Given the description of an element on the screen output the (x, y) to click on. 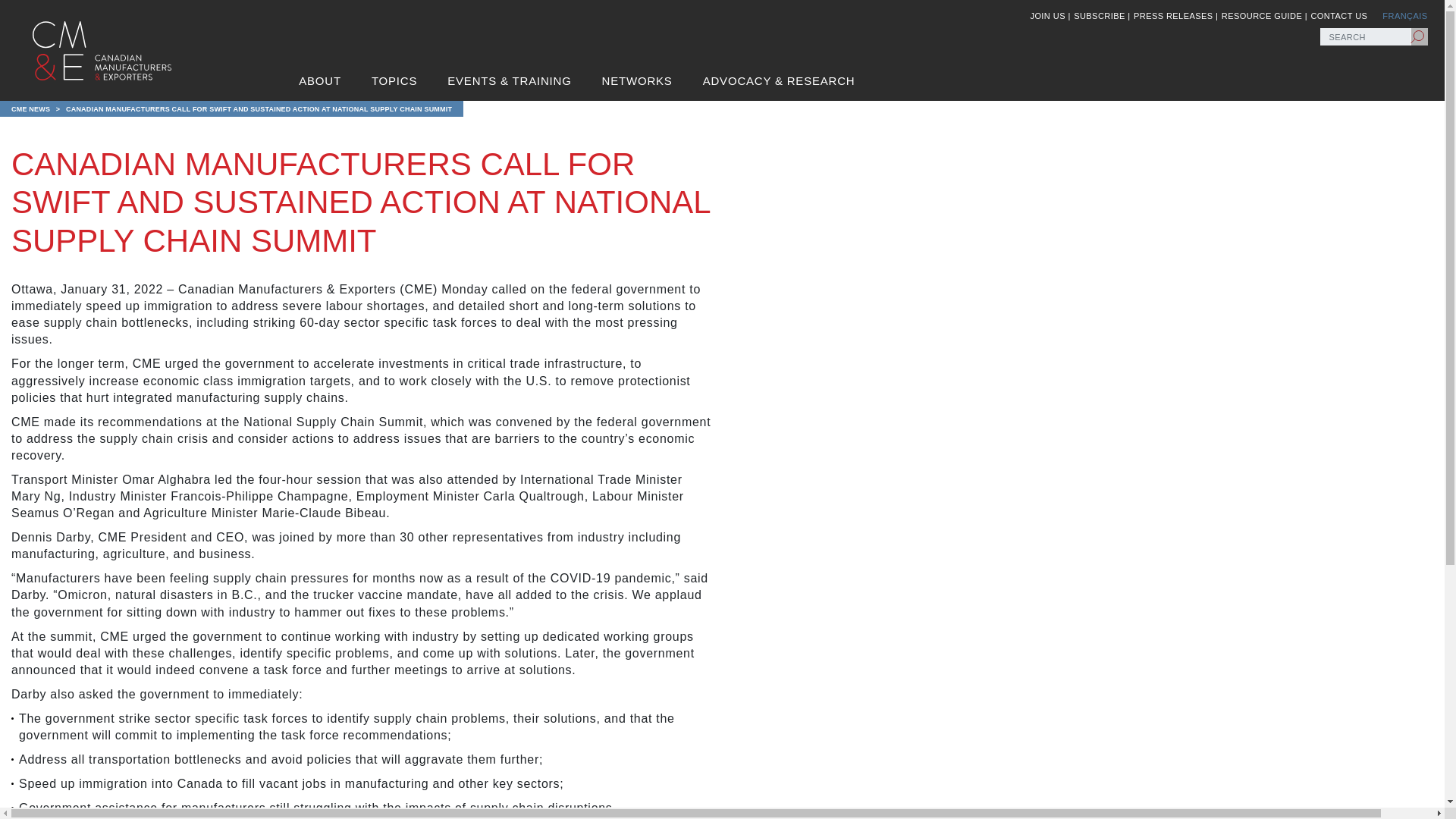
Join Us (1049, 16)
TOPICS (393, 80)
ABOUT (319, 80)
Home (101, 50)
Contact Us (1338, 16)
Press Releases (1175, 16)
Subscribe (1101, 16)
Resource Guide (1264, 16)
